Given the description of an element on the screen output the (x, y) to click on. 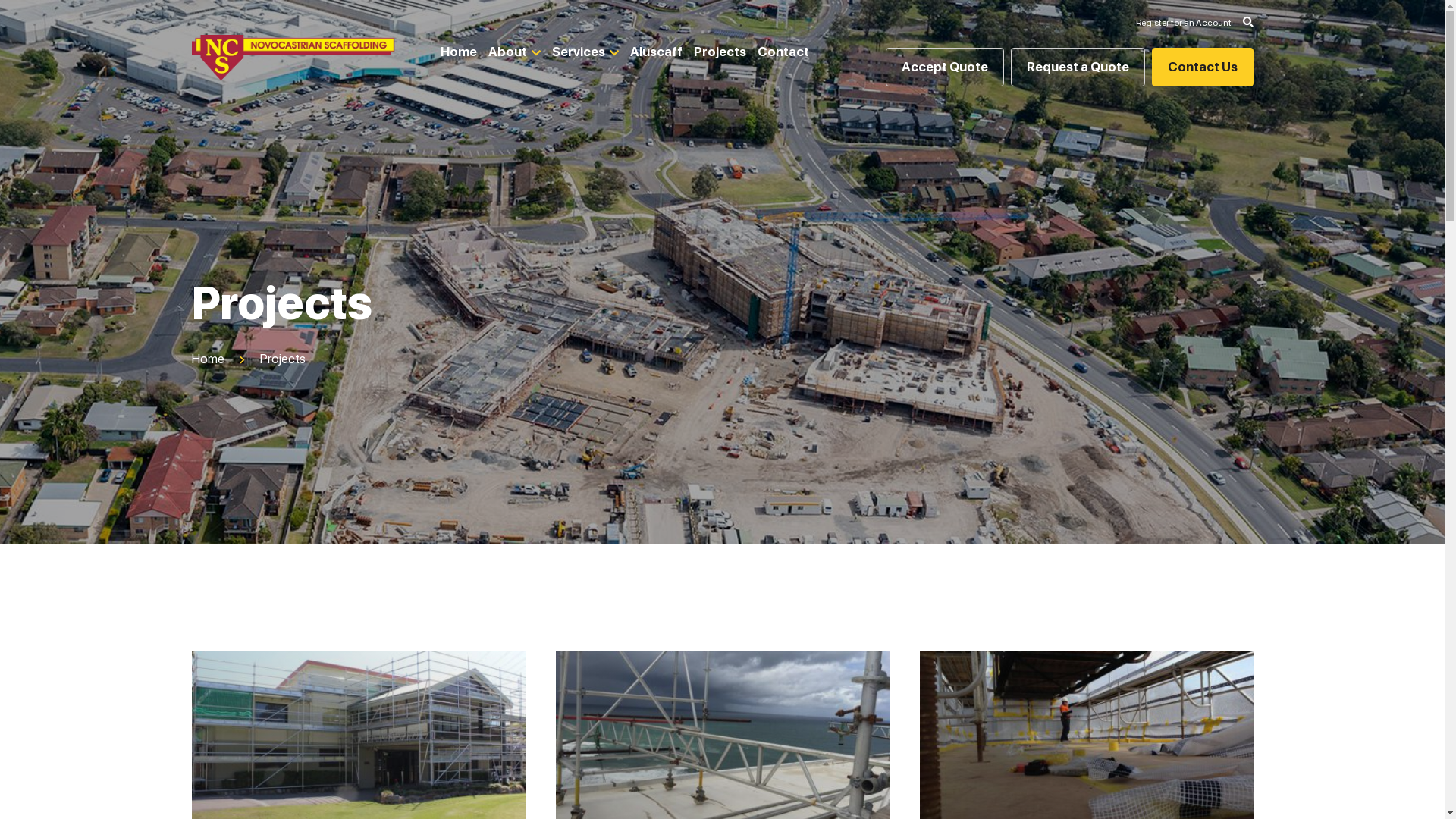
Contact Element type: text (783, 51)
Projects Element type: text (719, 51)
Aluscaff Element type: text (656, 51)
Request a Quote Element type: text (1077, 66)
About Element type: text (514, 51)
Home Element type: text (207, 358)
Home Element type: text (458, 51)
Contact Us Element type: text (1201, 66)
Register for an Account Element type: text (1183, 22)
Accept Quote Element type: text (944, 66)
Services Element type: text (585, 51)
